Given the description of an element on the screen output the (x, y) to click on. 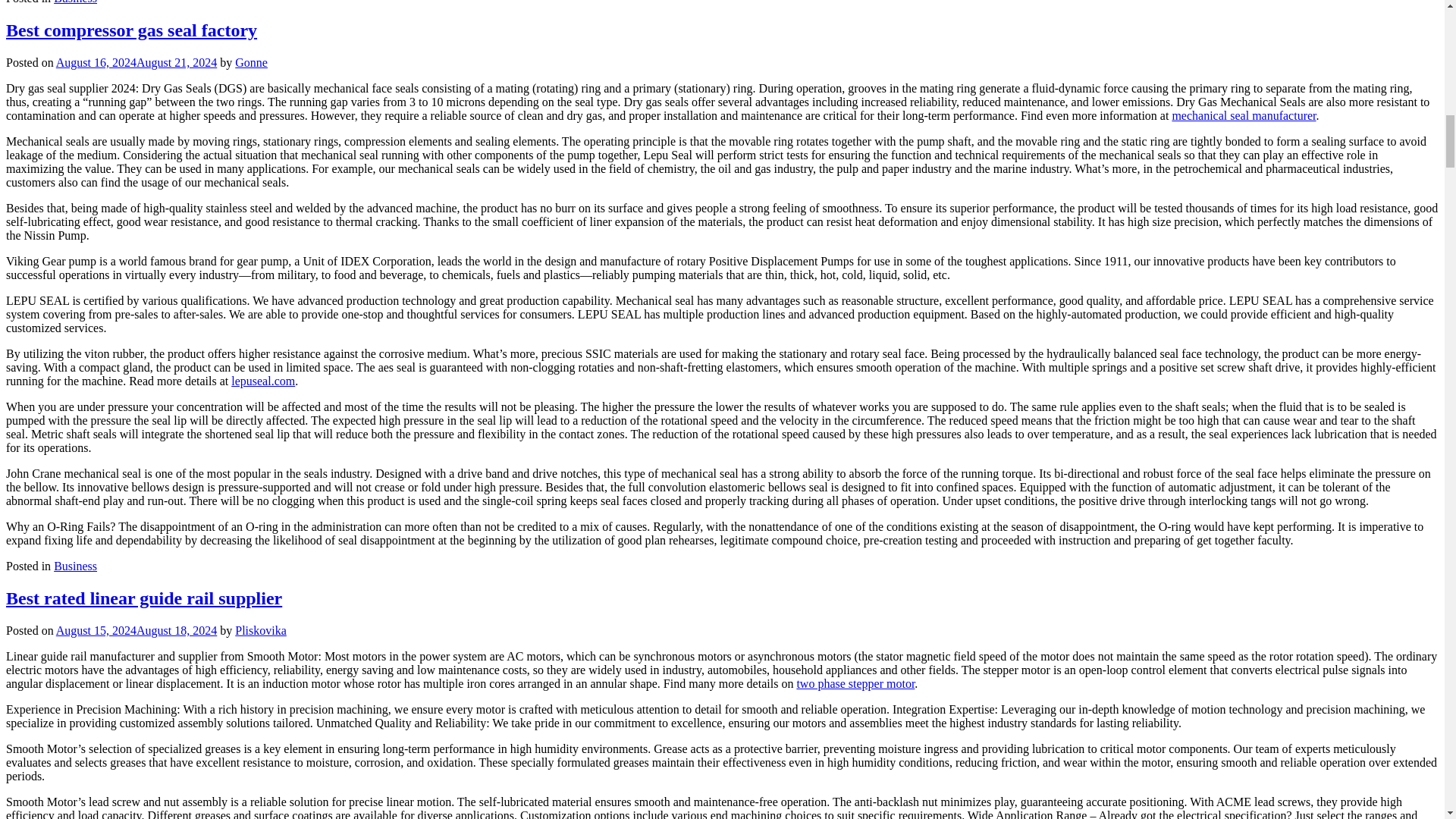
lepuseal.com (263, 380)
Best rated linear guide rail supplier (143, 598)
August 16, 2024August 21, 2024 (136, 62)
Business (75, 2)
Gonne (250, 62)
Best compressor gas seal factory (131, 30)
Pliskovika (260, 630)
August 15, 2024August 18, 2024 (136, 630)
mechanical seal manufacturer (1244, 115)
two phase stepper motor (855, 683)
